Given the description of an element on the screen output the (x, y) to click on. 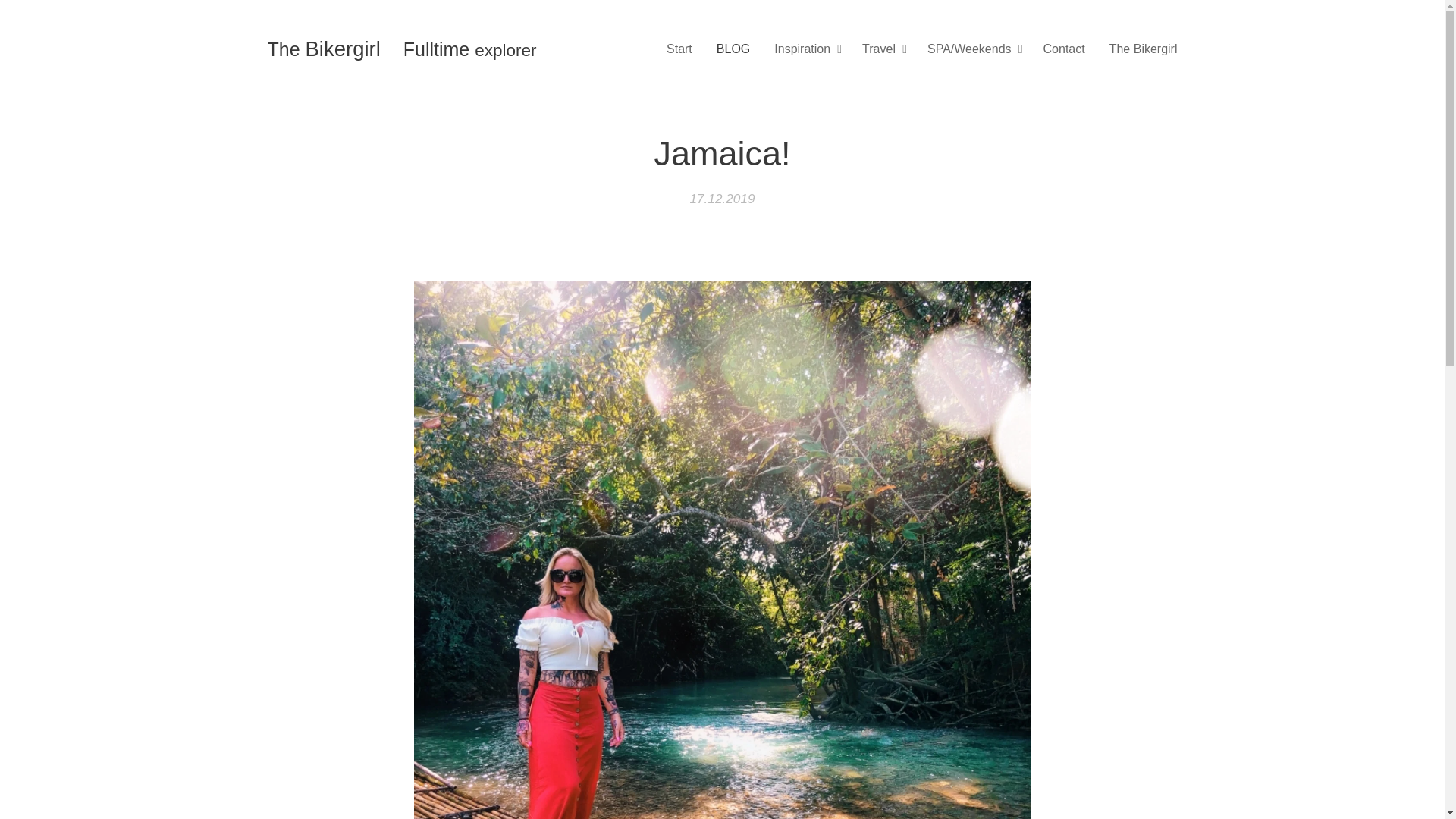
The Bikergirl    Fulltime explorer (401, 49)
Travel (882, 48)
Inspiration (805, 48)
BLOG (732, 48)
Start (683, 48)
